Given the description of an element on the screen output the (x, y) to click on. 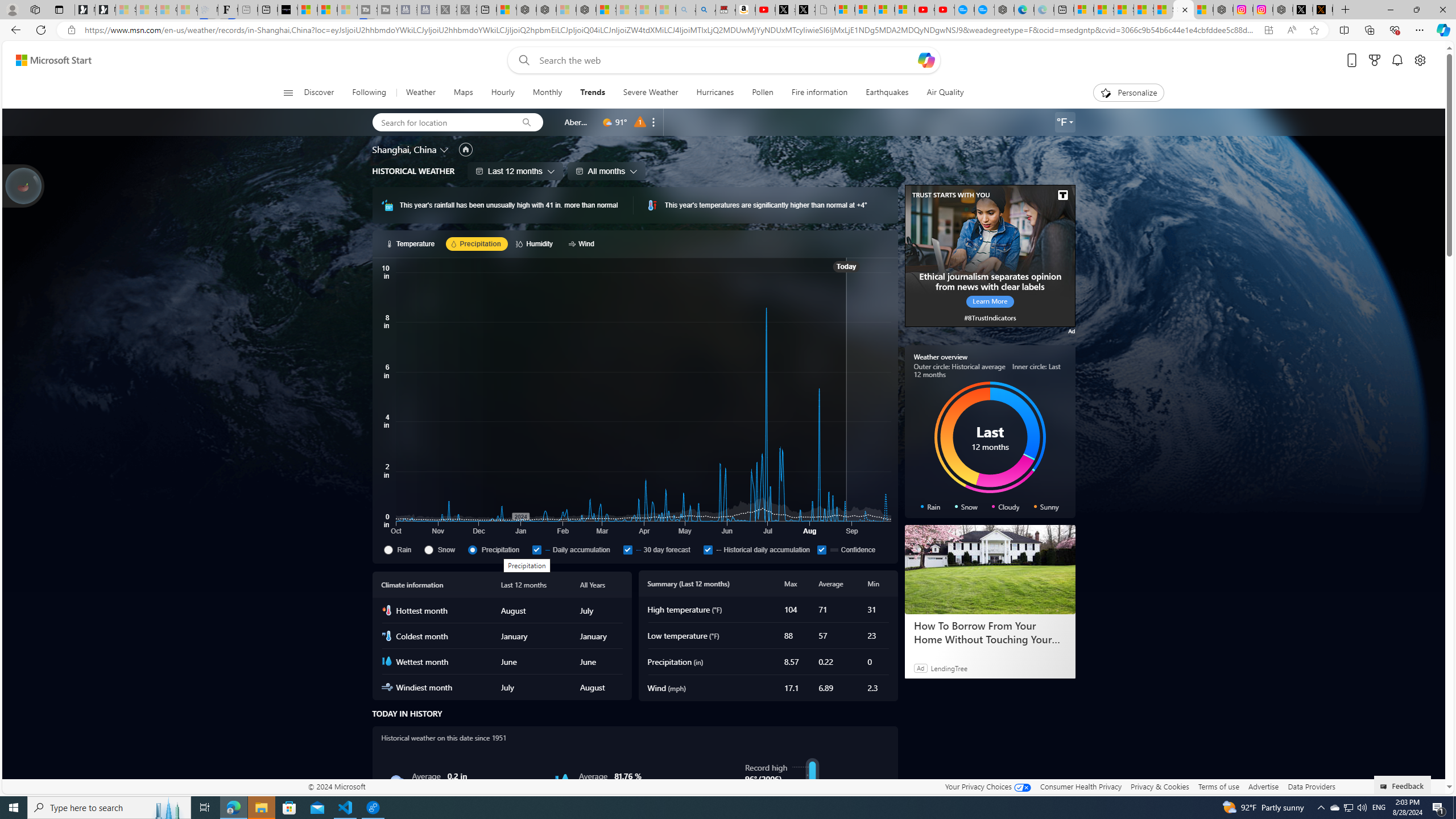
Historical daily accumulation (757, 549)
Your Privacy Choices (987, 785)
Terms of use (1218, 786)
Confidence (821, 549)
Daily accumulation (536, 549)
App available. Install Microsoft Start Weather (1268, 29)
All months (606, 170)
